Given the description of an element on the screen output the (x, y) to click on. 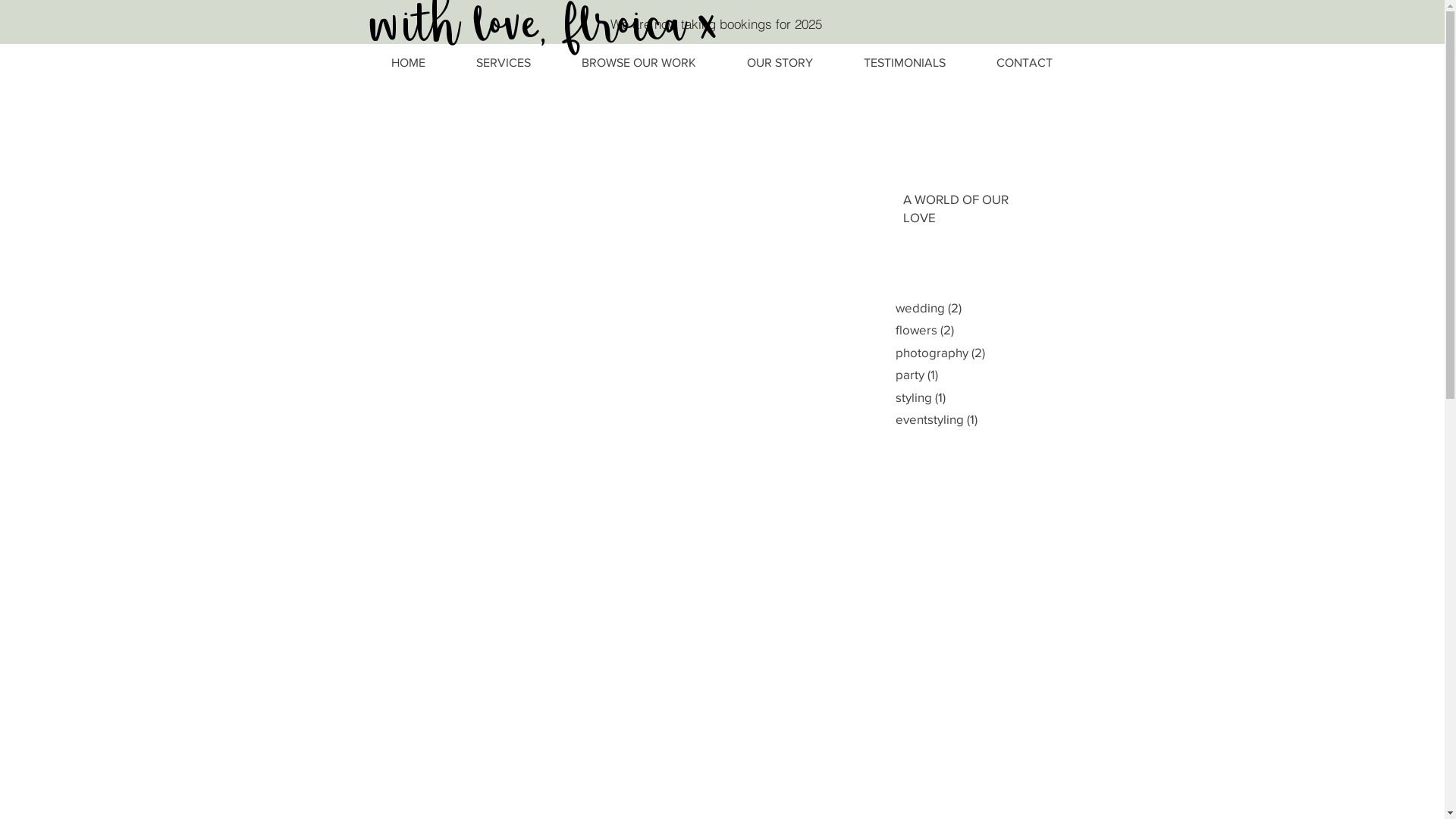
BROWSE OUR WORK Element type: text (638, 62)
SERVICES Element type: text (502, 62)
HOME Element type: text (408, 62)
flowers (2) Element type: text (1004, 329)
We are now taking bookings for 2025 Element type: text (715, 23)
OUR STORY Element type: text (779, 62)
styling (1) Element type: text (1004, 396)
photography (2) Element type: text (1004, 352)
party (1) Element type: text (1004, 374)
TESTIMONIALS Element type: text (904, 62)
A WORLD OF OUR LOVE Element type: text (967, 211)
CONTACT Element type: text (1023, 62)
eventstyling (1) Element type: text (1004, 418)
wedding (2) Element type: text (1004, 307)
